Given the description of an element on the screen output the (x, y) to click on. 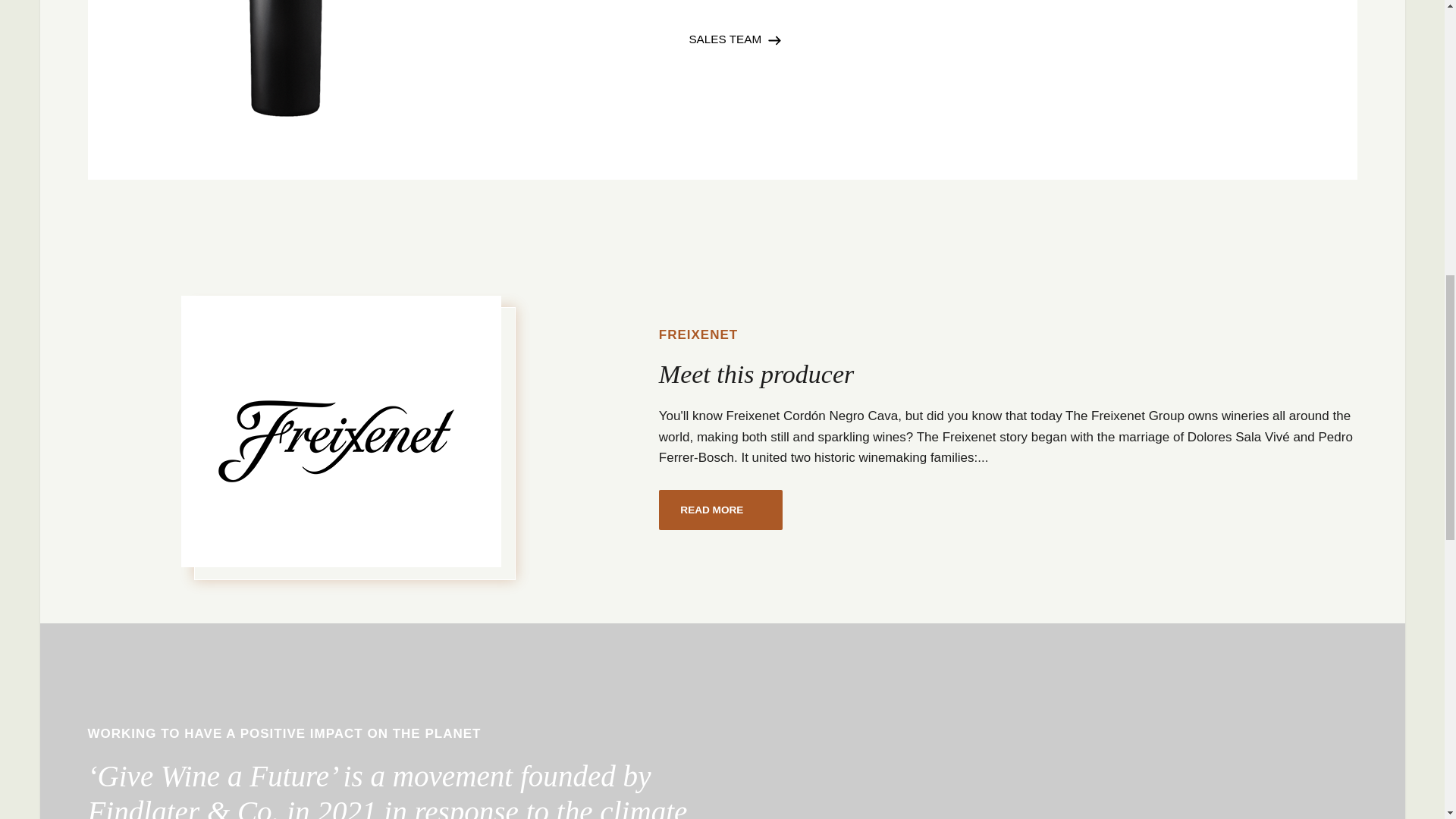
SALES TEAM (734, 39)
